Given the description of an element on the screen output the (x, y) to click on. 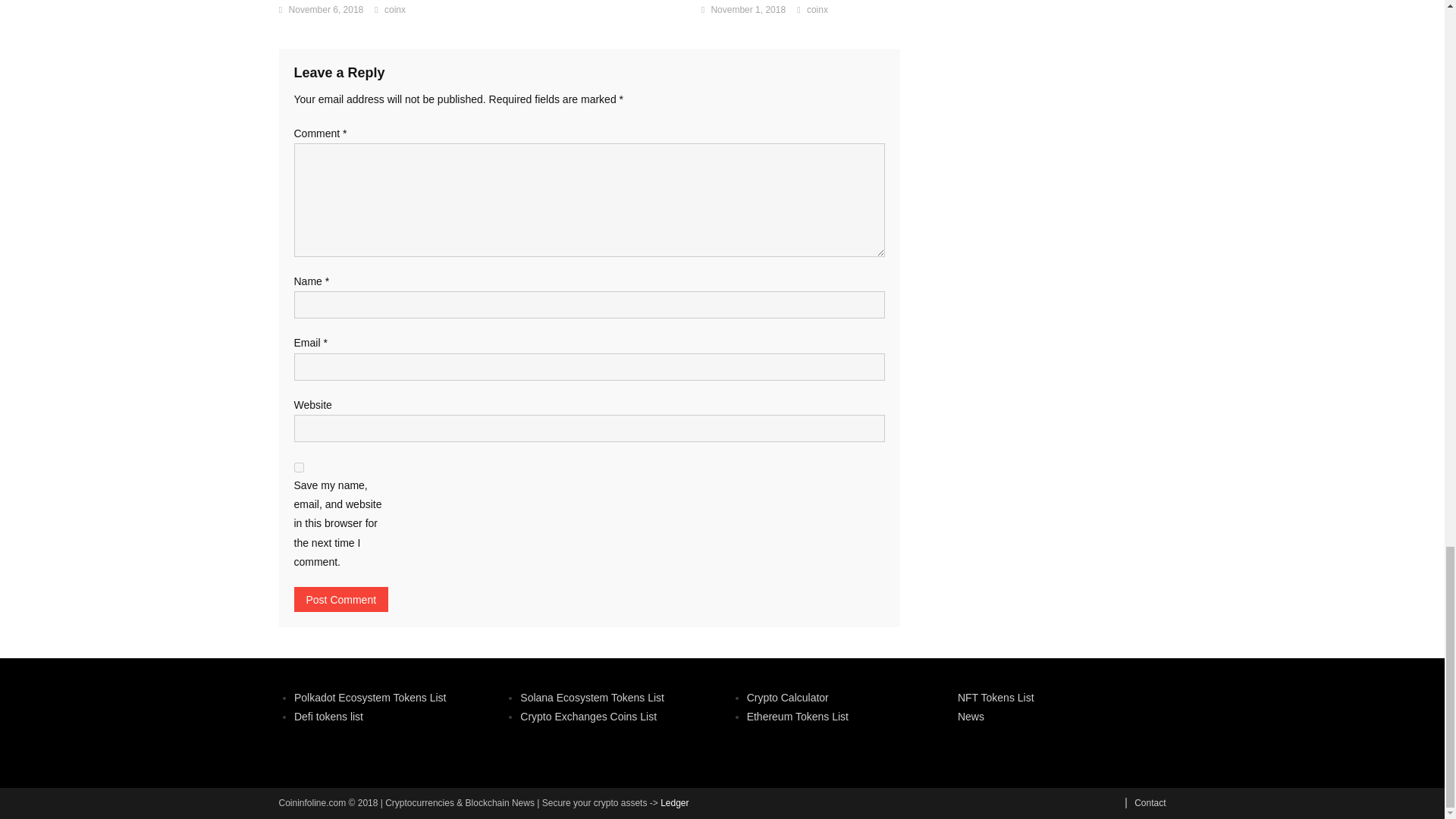
yes (299, 467)
coinx (395, 10)
November 6, 2018 (326, 10)
Ledger (674, 802)
Post Comment (341, 599)
